Given the description of an element on the screen output the (x, y) to click on. 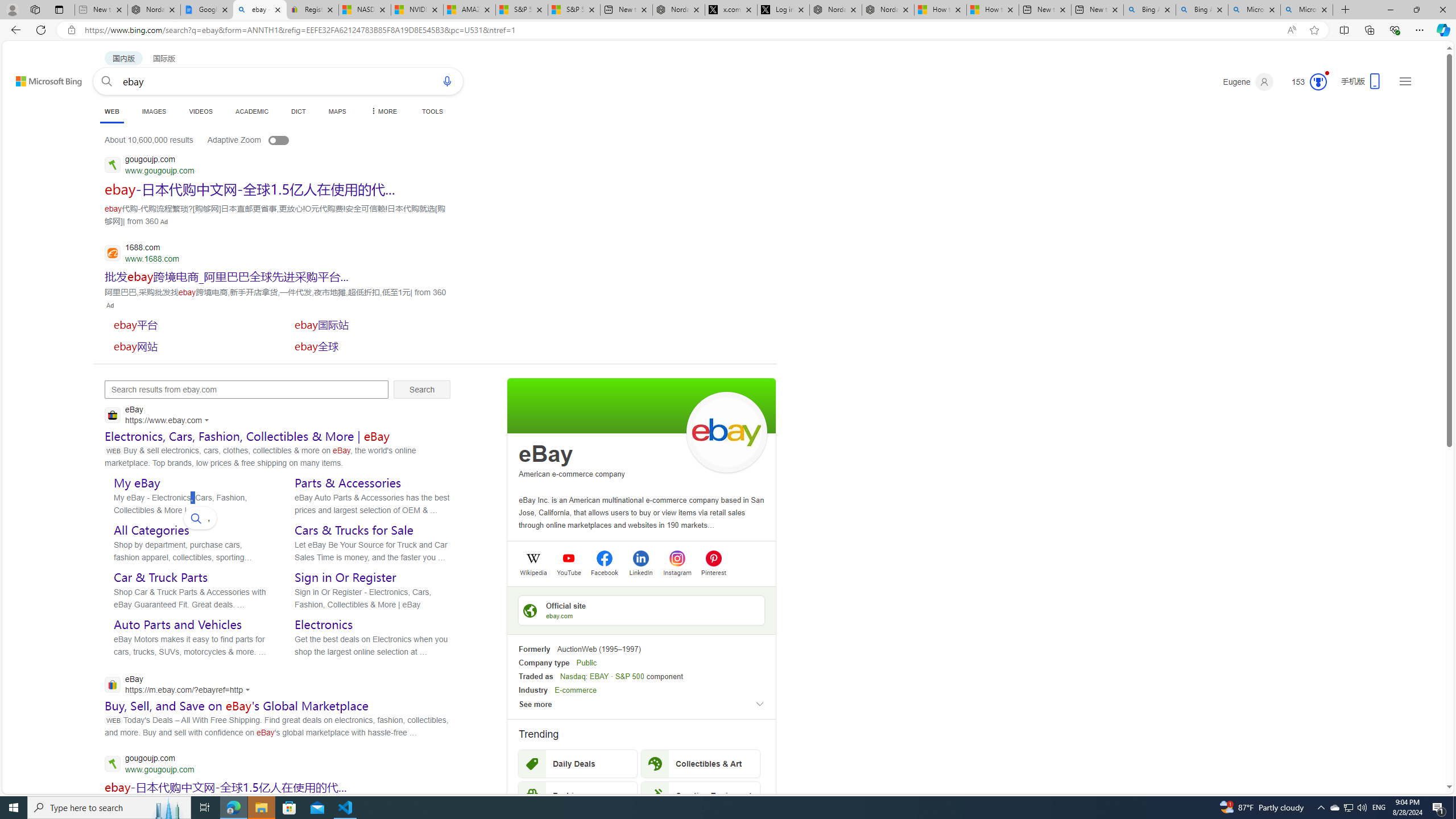
Official siteebay.com (641, 610)
Google Docs: Online Document Editor | Google Workspace (207, 9)
MORE (382, 111)
ACADEMIC (252, 111)
Formerly (534, 649)
Back to Bing search (41, 78)
My eBay (136, 482)
